Given the description of an element on the screen output the (x, y) to click on. 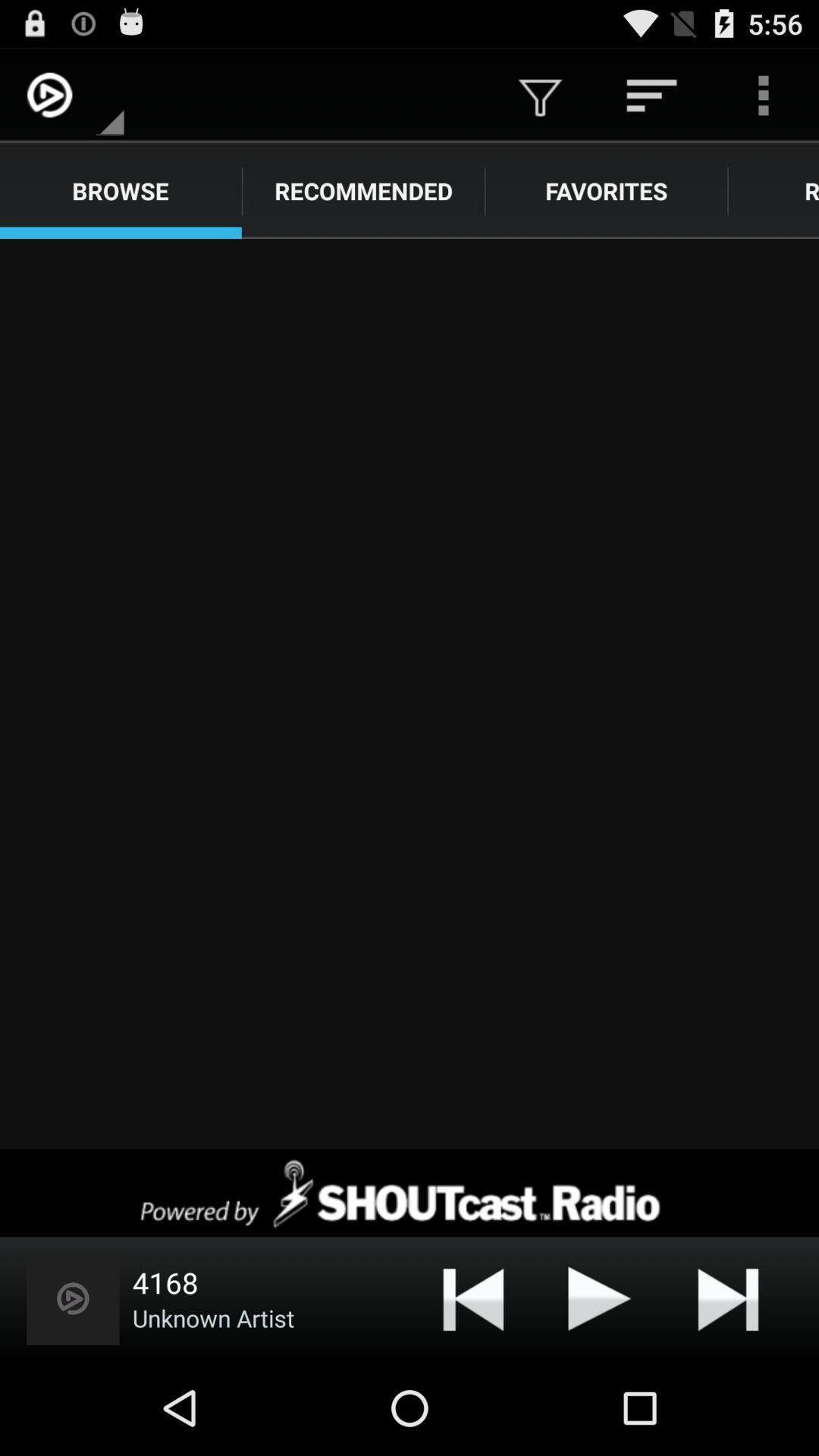
turn on icon above the favorites icon (540, 95)
